Given the description of an element on the screen output the (x, y) to click on. 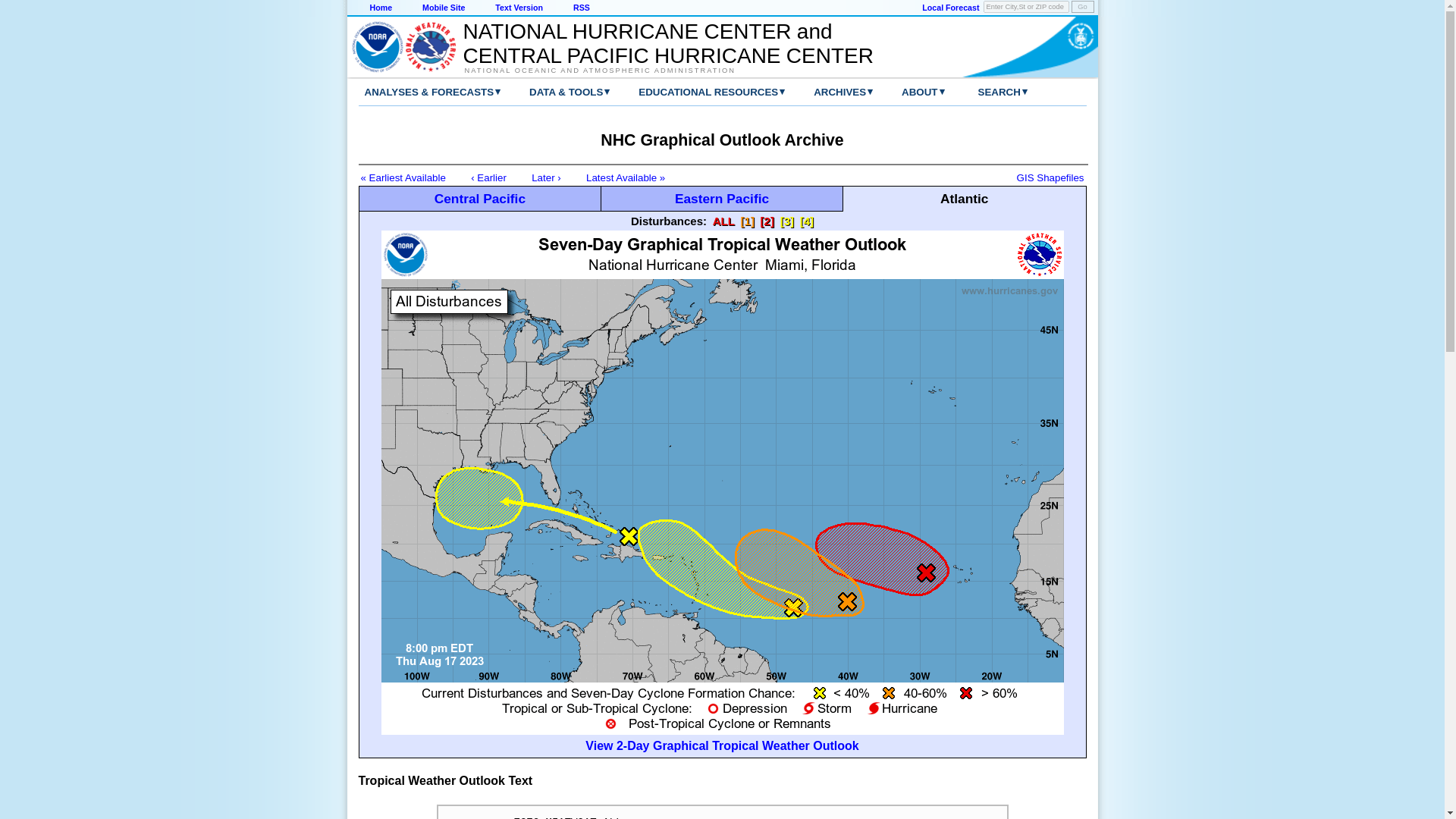
Go (1081, 6)
Text Version (519, 7)
NATIONAL OCEANIC AND ATMOSPHERIC ADMINISTRATION (659, 70)
Local Forecast (949, 7)
Go (1081, 6)
Home (381, 7)
EDUCATIONAL RESOURCES (696, 91)
Mobile Site (443, 7)
Enter City,St or ZIP code (1026, 6)
